Given the description of an element on the screen output the (x, y) to click on. 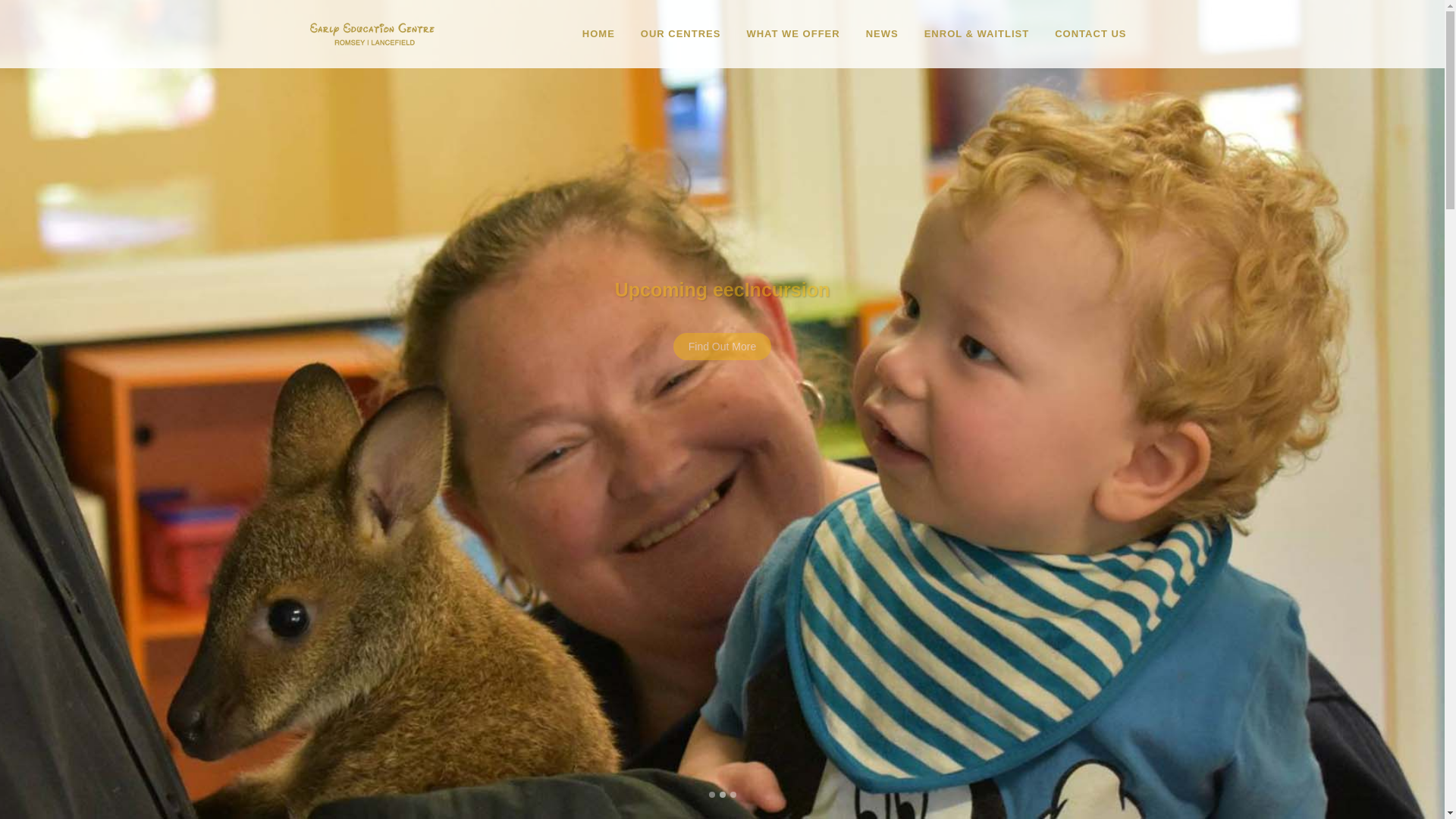
ENROL & WAITLIST Element type: text (976, 34)
HOME Element type: text (598, 34)
OUR CENTRES Element type: text (680, 34)
CONTACT US Element type: text (1090, 34)
NEWS Element type: text (882, 34)
WHAT WE OFFER Element type: text (792, 34)
Find Out More Element type: text (722, 346)
